Given the description of an element on the screen output the (x, y) to click on. 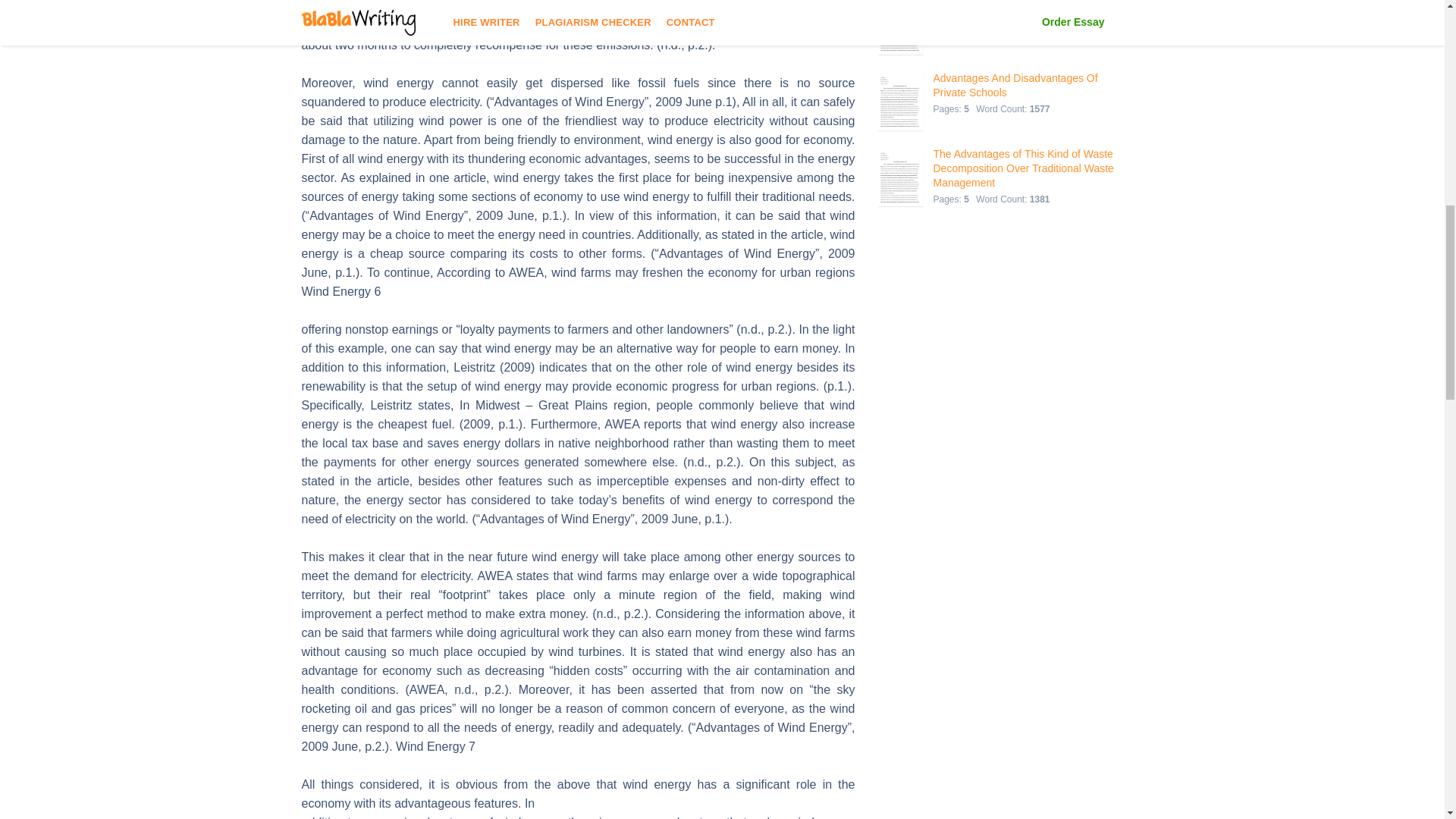
Integrated Energy Storage Systems     (1022, 4)
Advantages And Disadvantages Of Private Schools (1025, 85)
